Given the description of an element on the screen output the (x, y) to click on. 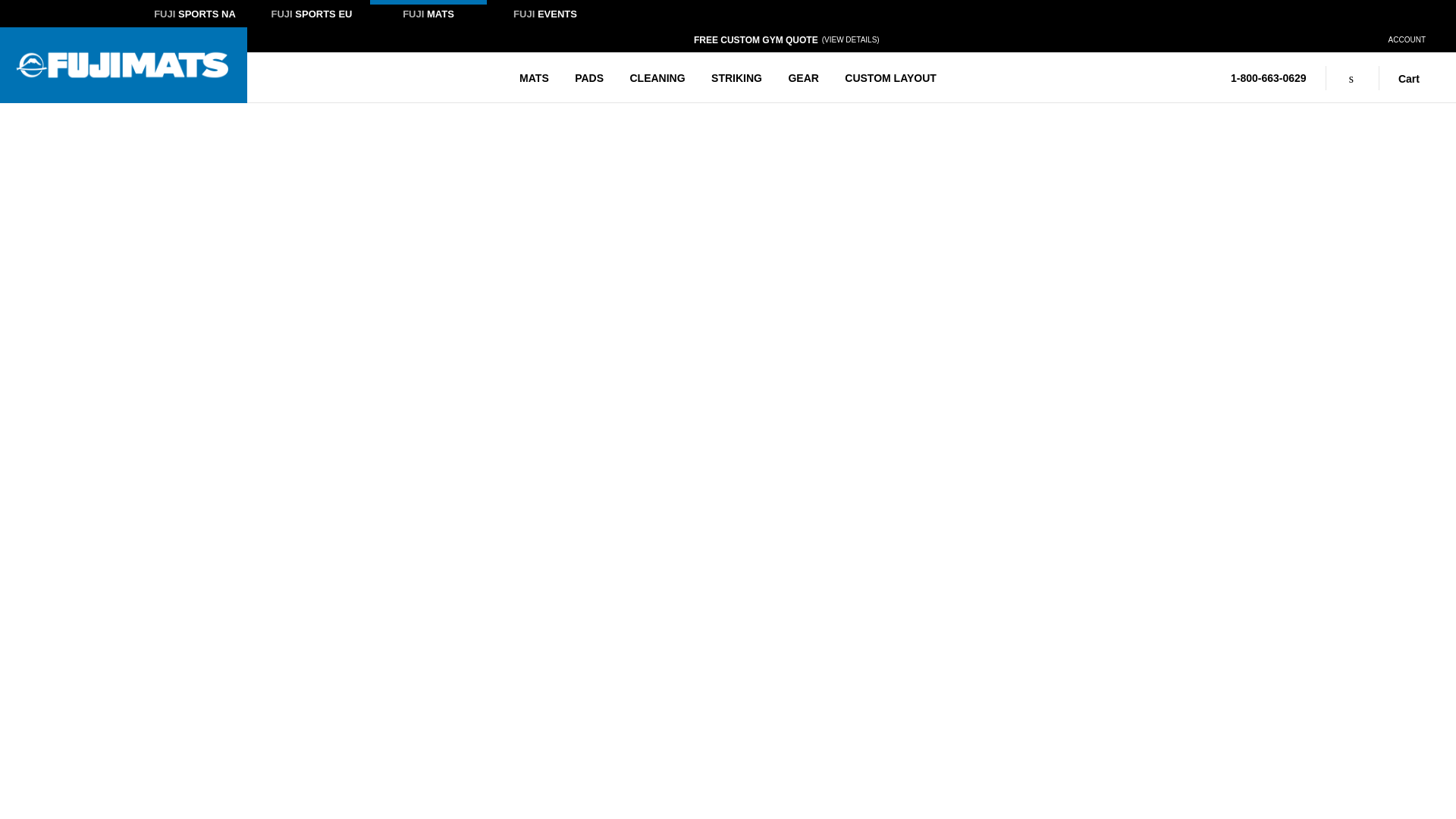
FUJI MATS (427, 15)
MATS (534, 78)
FUJI EVENTS (545, 15)
Fuji Events (545, 15)
FUJI SPORTS NA (194, 15)
FUJI SPORTS EU (311, 15)
Fuji Mats (427, 15)
Fuji Sports NA (194, 15)
ACCOUNT (1407, 39)
Fuji Sports EU (311, 15)
